Given the description of an element on the screen output the (x, y) to click on. 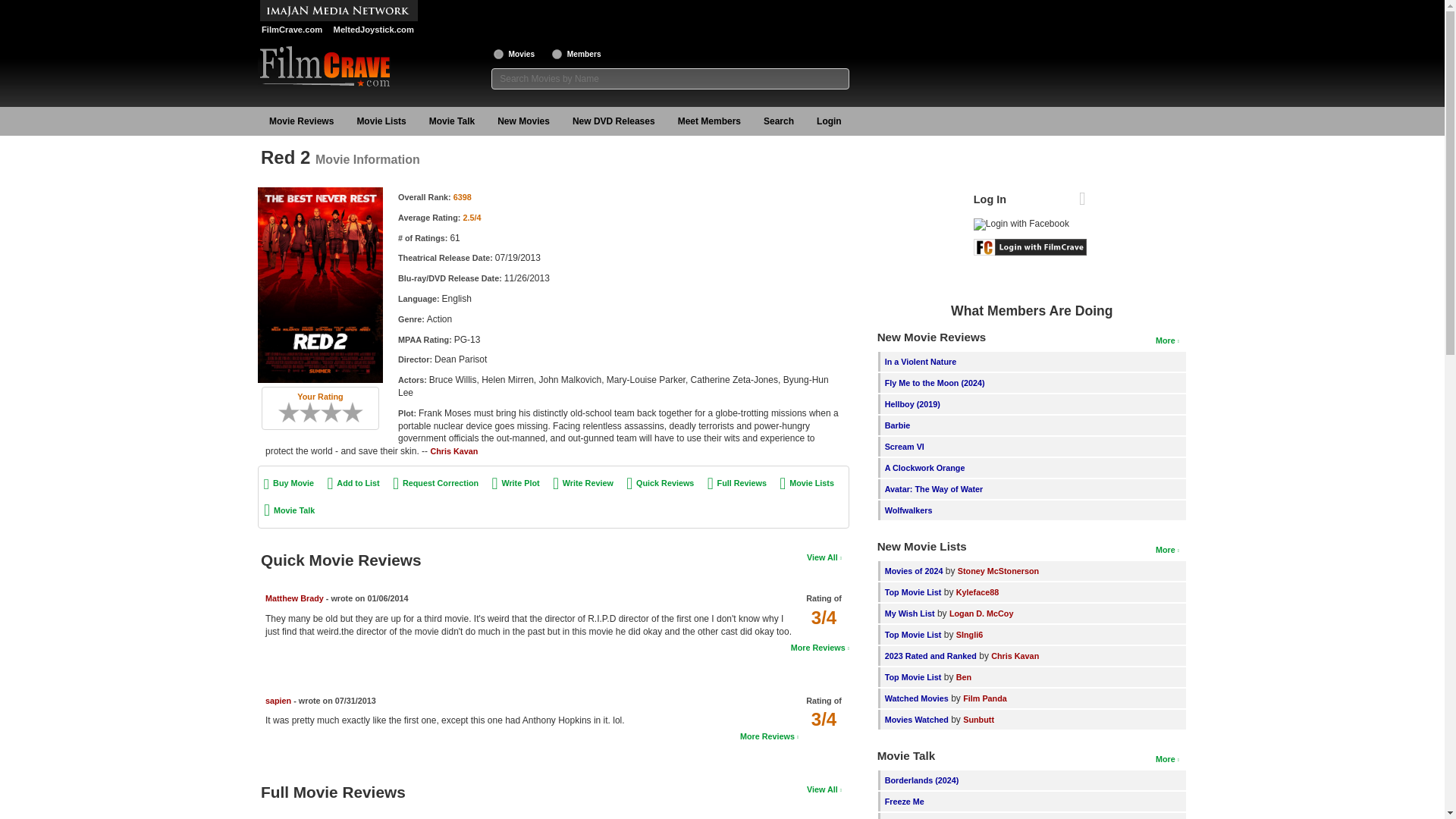
Movie Lists (380, 121)
New Movies (523, 121)
u (556, 53)
Search (778, 121)
Read more reviews from Matthew Brady (819, 646)
3 out of 4 stars (822, 719)
Buy Red 2 on Blu-ray (288, 482)
Movie Reviews (301, 121)
Plot written by Chris Kavan (453, 450)
MeltedJoystick Video Game Social Network (371, 29)
